Given the description of an element on the screen output the (x, y) to click on. 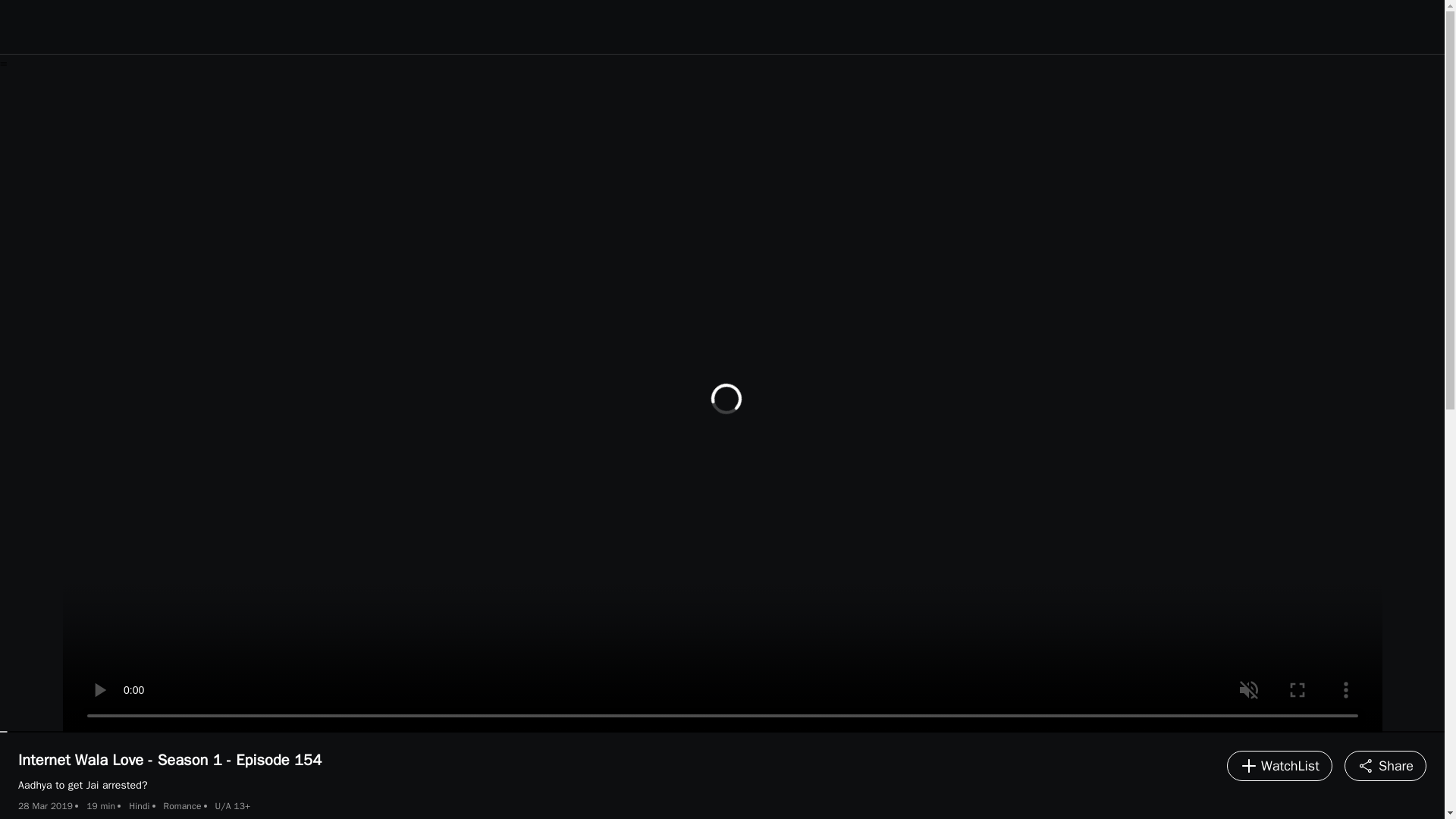
Share (1384, 766)
WatchList (1279, 766)
